Given the description of an element on the screen output the (x, y) to click on. 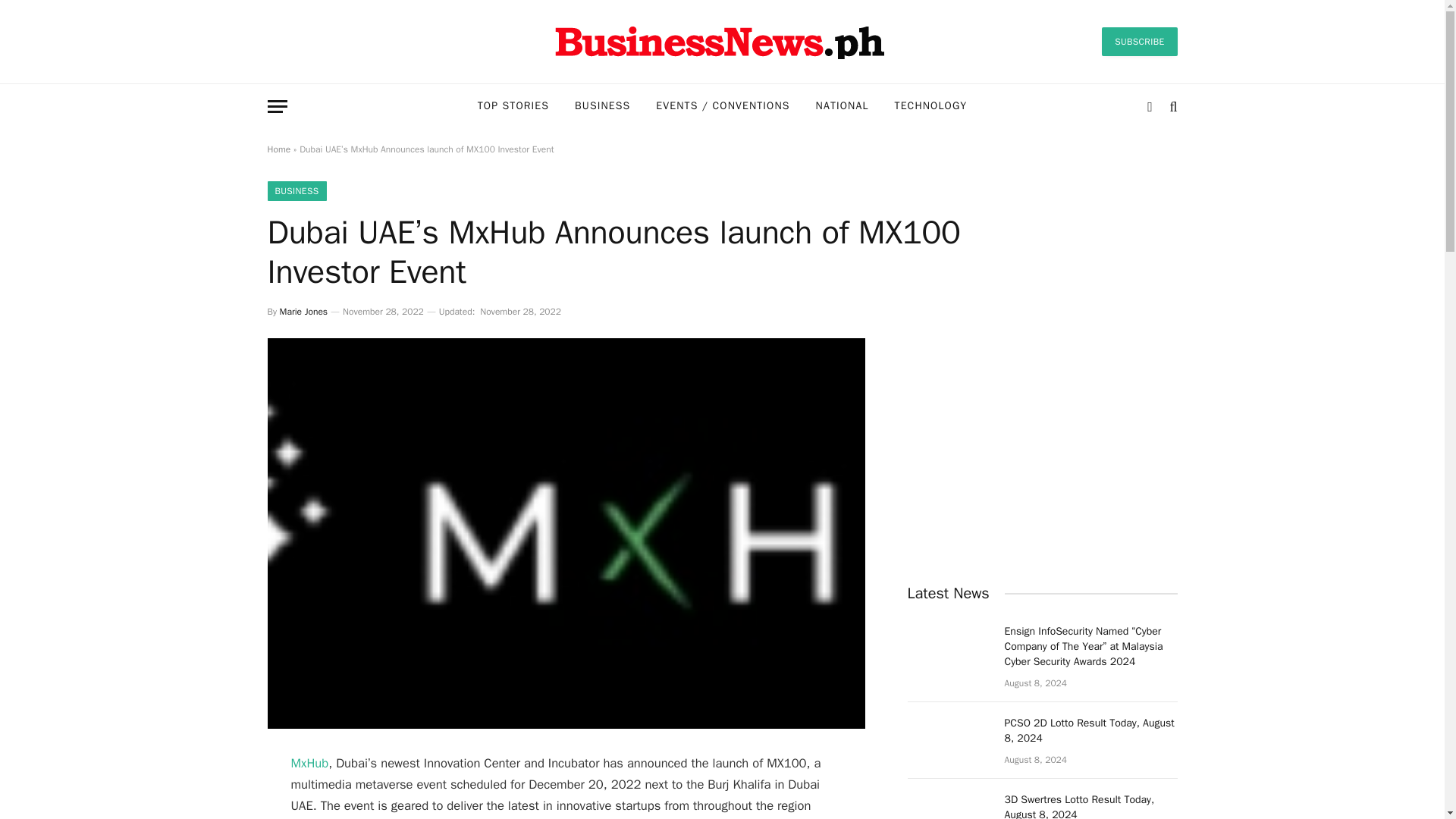
MxHub (310, 763)
Home (277, 149)
BUSINESS (296, 190)
TECHNOLOGY (930, 106)
Switch to Dark Design - easier on eyes. (1149, 106)
TOP STORIES (513, 106)
Posts by Marie Jones (304, 311)
Marie Jones (304, 311)
SUBSCRIBE (1139, 41)
BUSINESS (602, 106)
NATIONAL (842, 106)
BusinessNews.ph (721, 41)
